Given the description of an element on the screen output the (x, y) to click on. 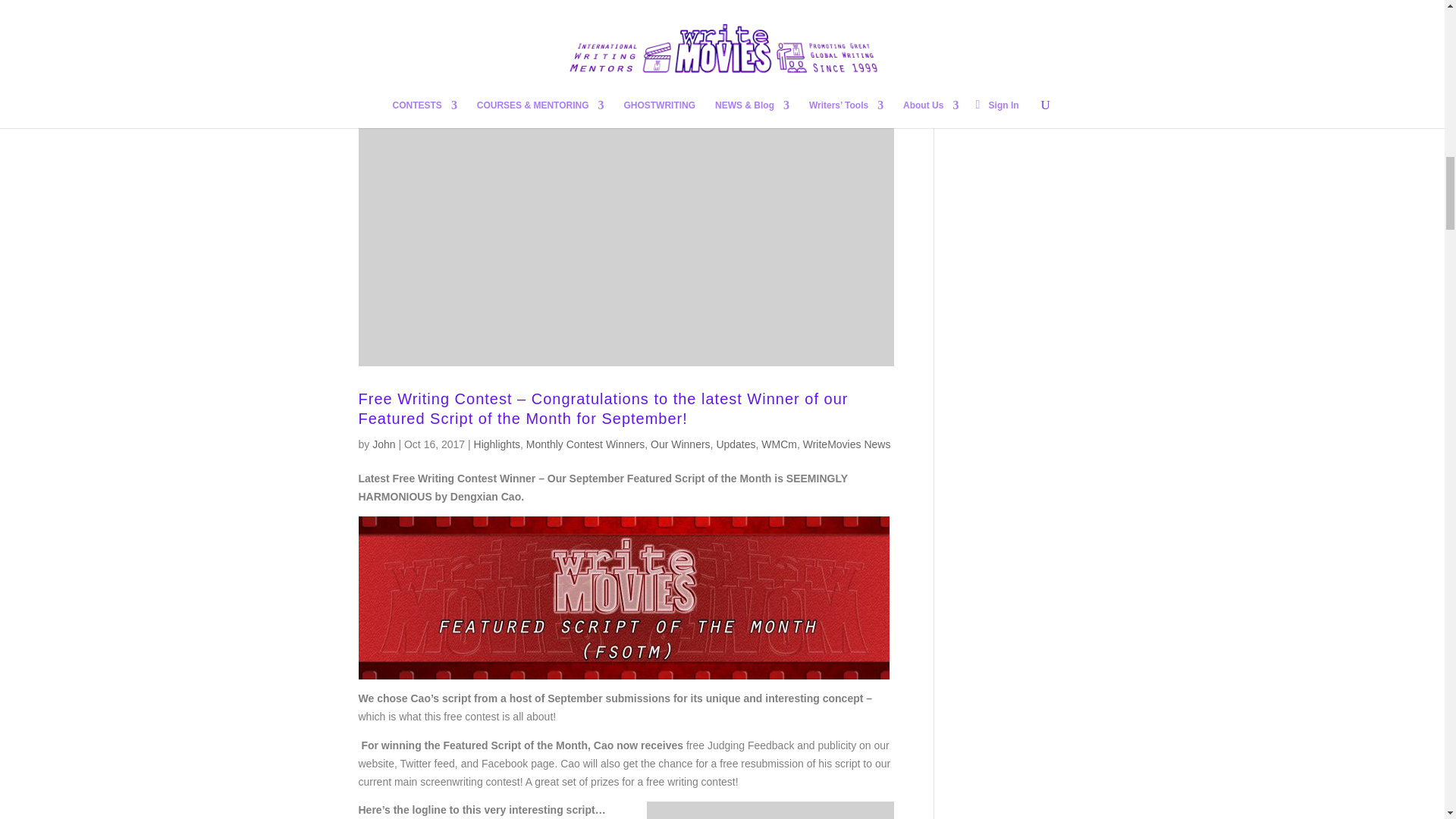
Posts by John (383, 444)
